Given the description of an element on the screen output the (x, y) to click on. 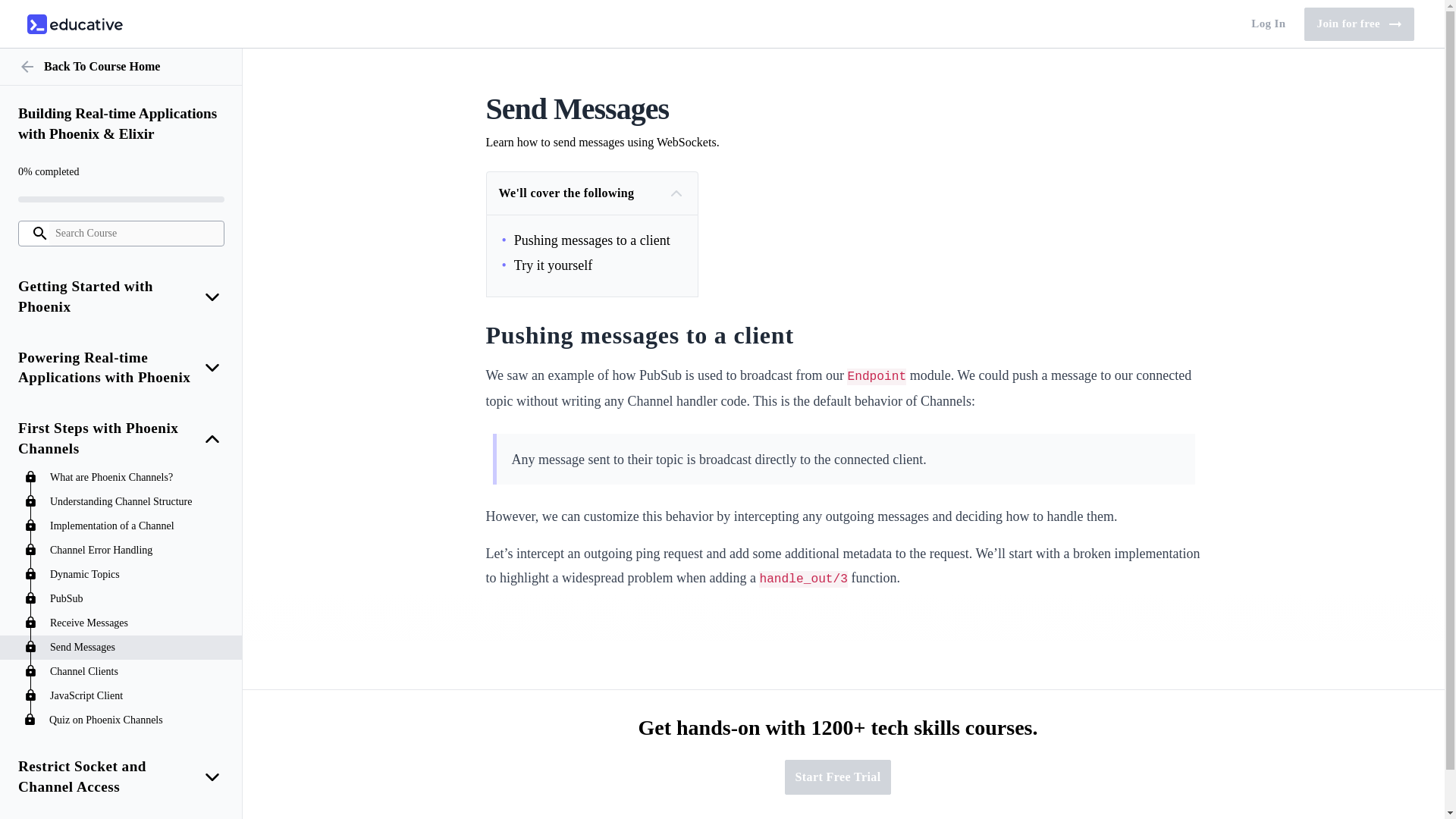
JavaScript Client (138, 695)
Quiz on Phoenix Channels (138, 720)
What are Phoenix Channels? (138, 477)
Back To Course Home (121, 66)
PubSub (138, 598)
Dynamic Topics (1358, 23)
educative.io (138, 574)
Channel Clients (74, 23)
Send Messages (138, 671)
Understanding Channel Structure (138, 647)
Log In (138, 501)
Receive Messages (1268, 23)
Implementation of a Channel (138, 622)
